Given the description of an element on the screen output the (x, y) to click on. 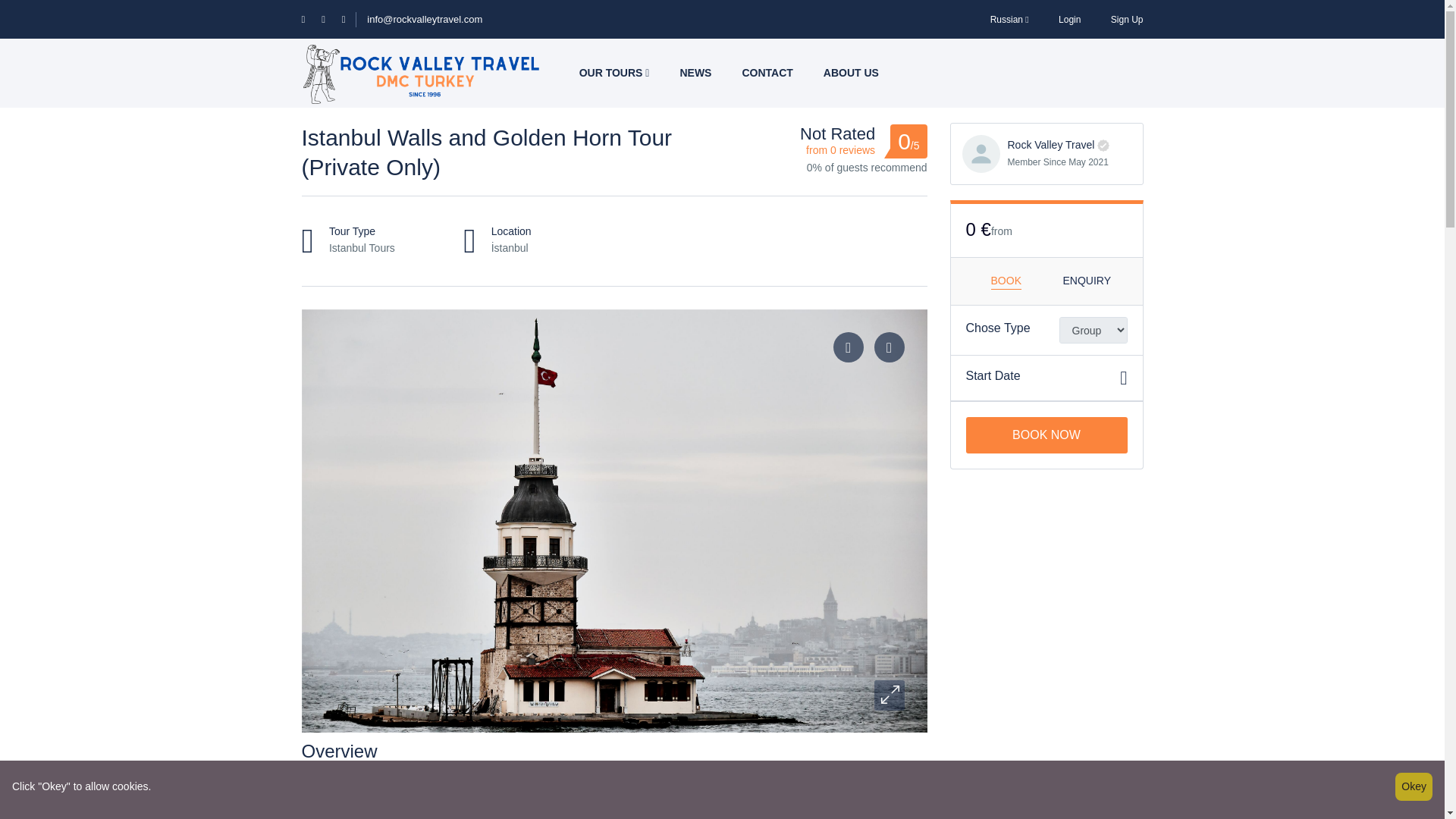
Russian (1001, 18)
OUR TOURS (614, 72)
Login (1069, 18)
Sign Up (1126, 18)
